Given the description of an element on the screen output the (x, y) to click on. 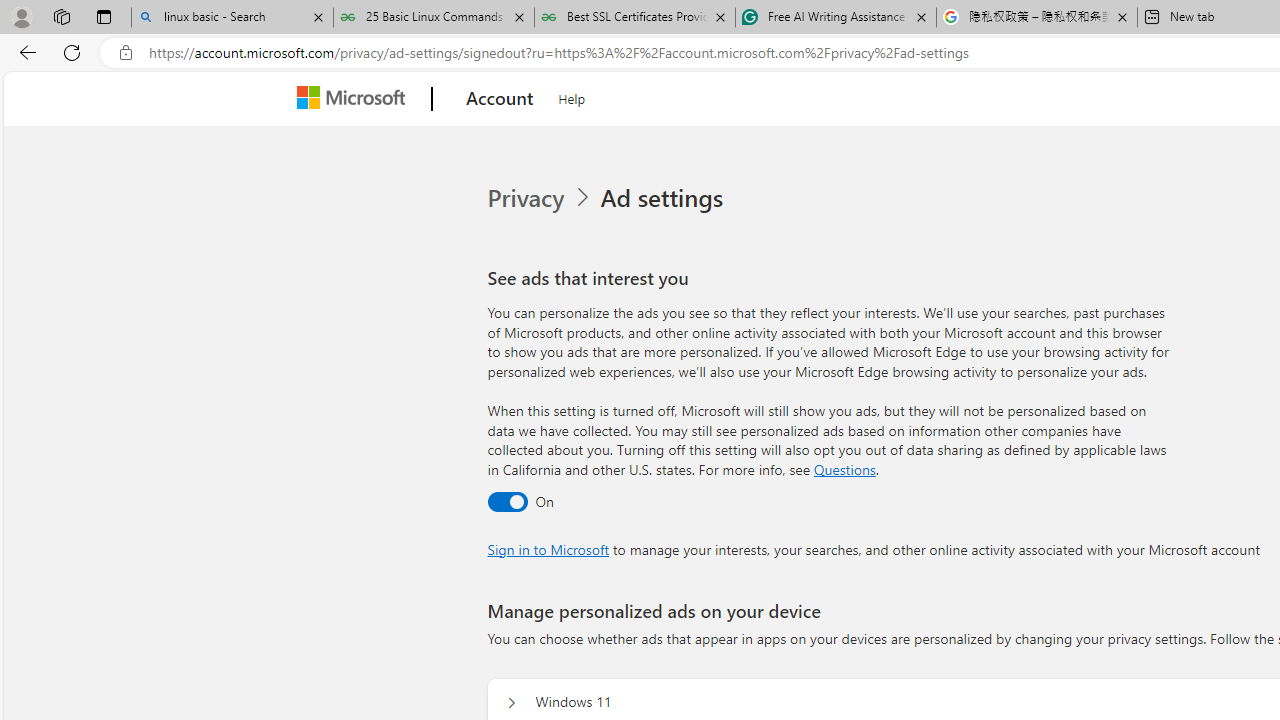
Privacy (541, 197)
25 Basic Linux Commands For Beginners - GeeksforGeeks (433, 17)
Account (499, 99)
Ad settings (666, 197)
linux basic - Search (231, 17)
Manage personalized ads on your device Windows 11 (511, 702)
